Given the description of an element on the screen output the (x, y) to click on. 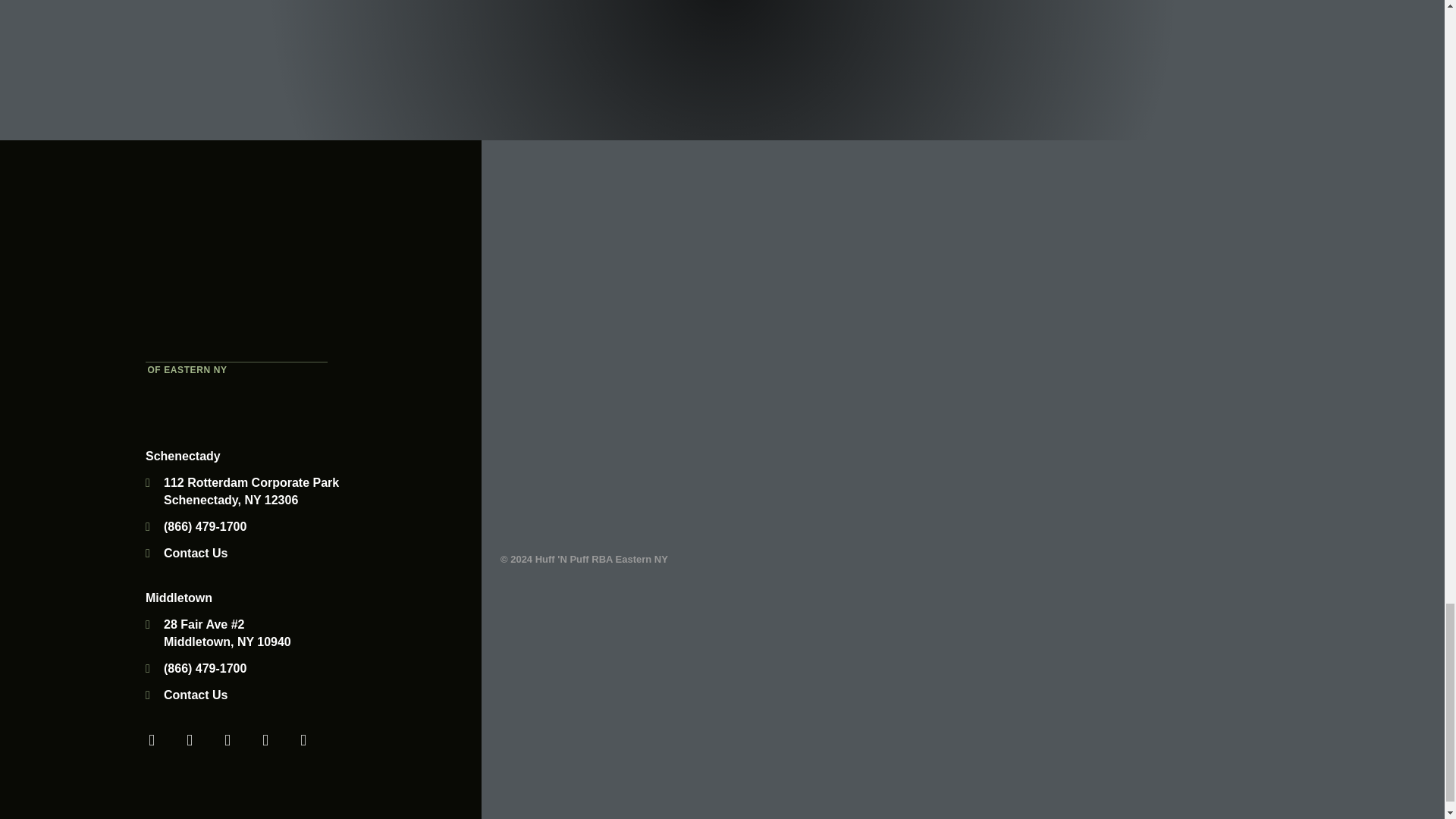
LinkedIn (265, 739)
YouTube (227, 739)
Huff 'N Puff RBA Eastern NY (236, 275)
Twitter (189, 739)
Instagram (303, 739)
Facebook (151, 739)
